Given the description of an element on the screen output the (x, y) to click on. 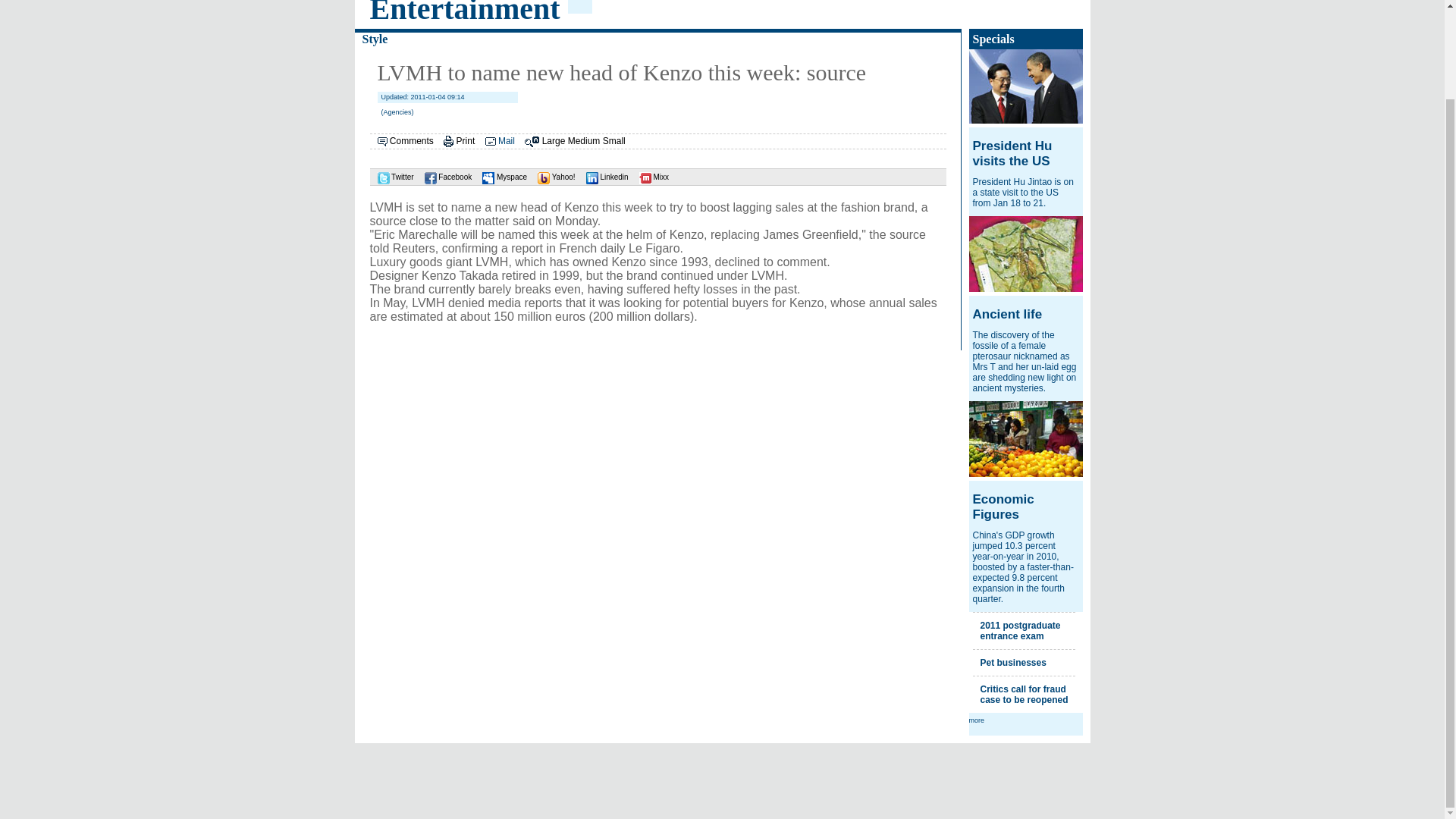
Share to Yahoo! Buzz (552, 176)
Facebook (443, 176)
Economic Figures (1002, 506)
Share to Mixx (649, 176)
Critics call for fraud case to be reopened (1023, 694)
Yahoo! (552, 176)
Print (466, 140)
Small (614, 140)
Mail (506, 140)
Mixx (649, 176)
